Given the description of an element on the screen output the (x, y) to click on. 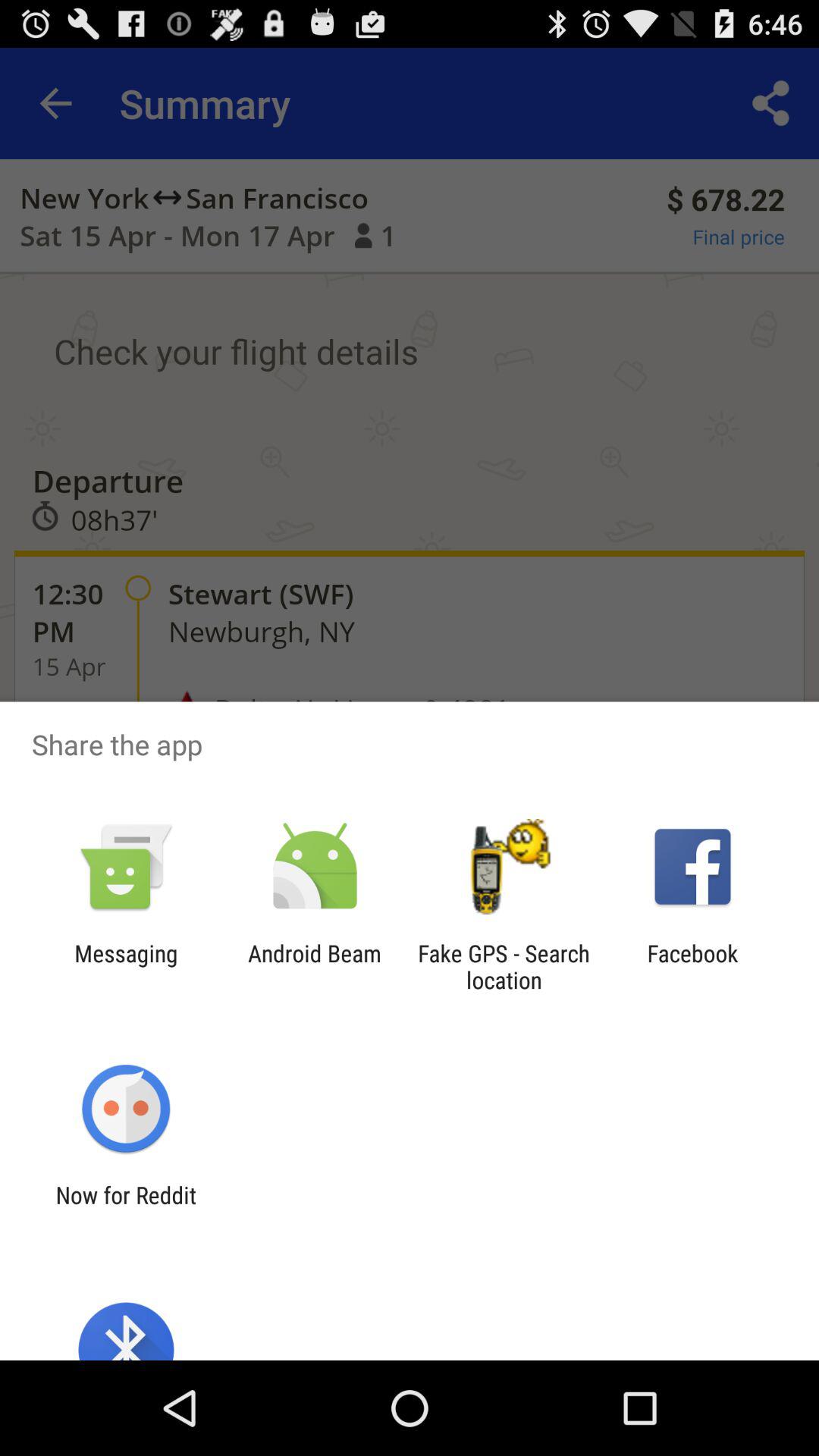
jump until the fake gps search app (503, 966)
